Given the description of an element on the screen output the (x, y) to click on. 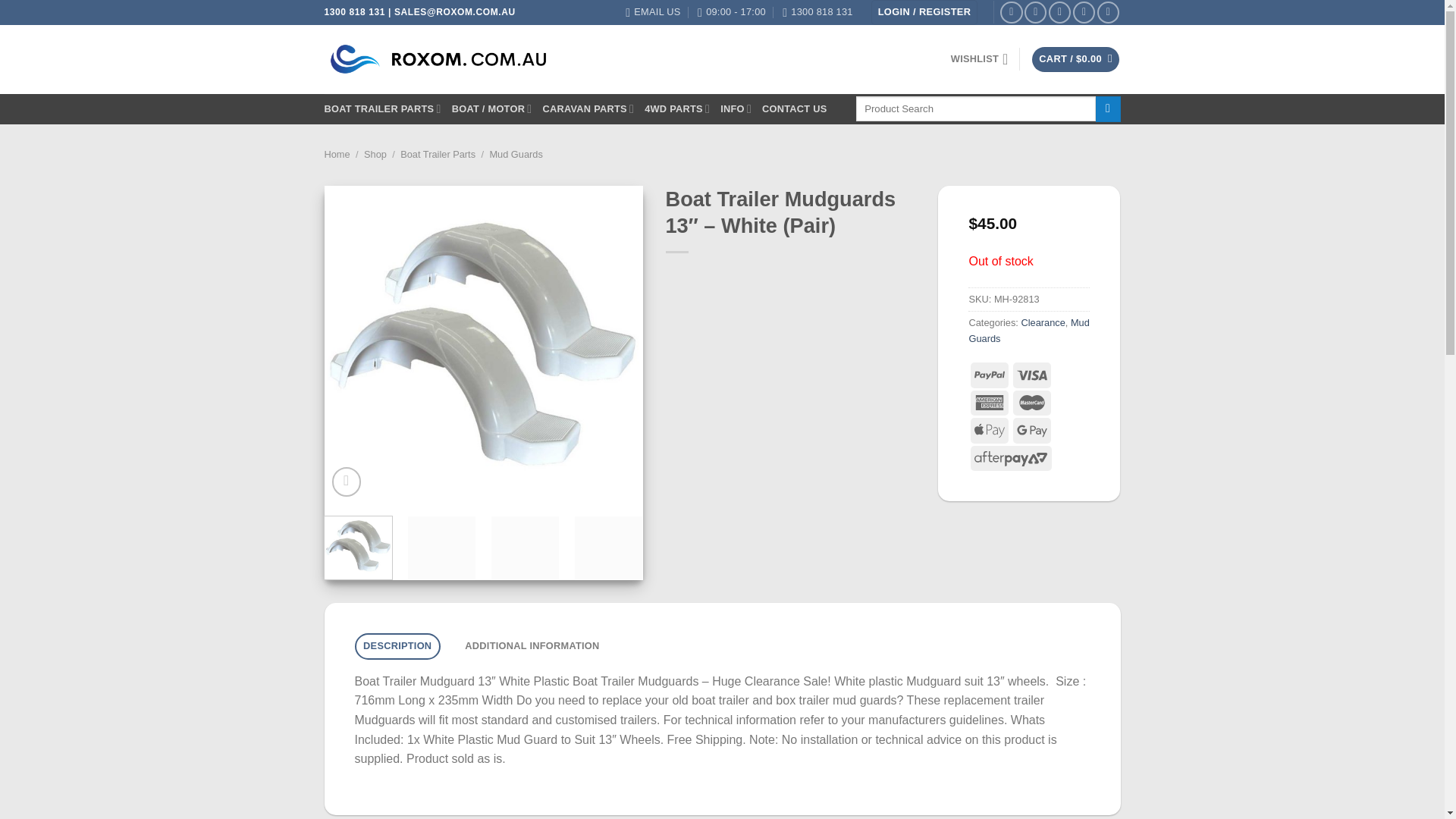
Login (924, 12)
Follow on YouTube (1108, 12)
Follow on Instagram (1035, 12)
09:00 - 17:00 (731, 11)
Follow on Pinterest (1083, 12)
1300 818 131 (817, 11)
09:00 - 17:00  (731, 11)
EMAIL US (652, 11)
BOAT TRAILER PARTS (382, 109)
1300 818 131 (817, 11)
Follow on Facebook (1011, 12)
Wishlist (979, 59)
Follow on X (1059, 12)
Cart (1075, 59)
WISHLIST (979, 59)
